Given the description of an element on the screen output the (x, y) to click on. 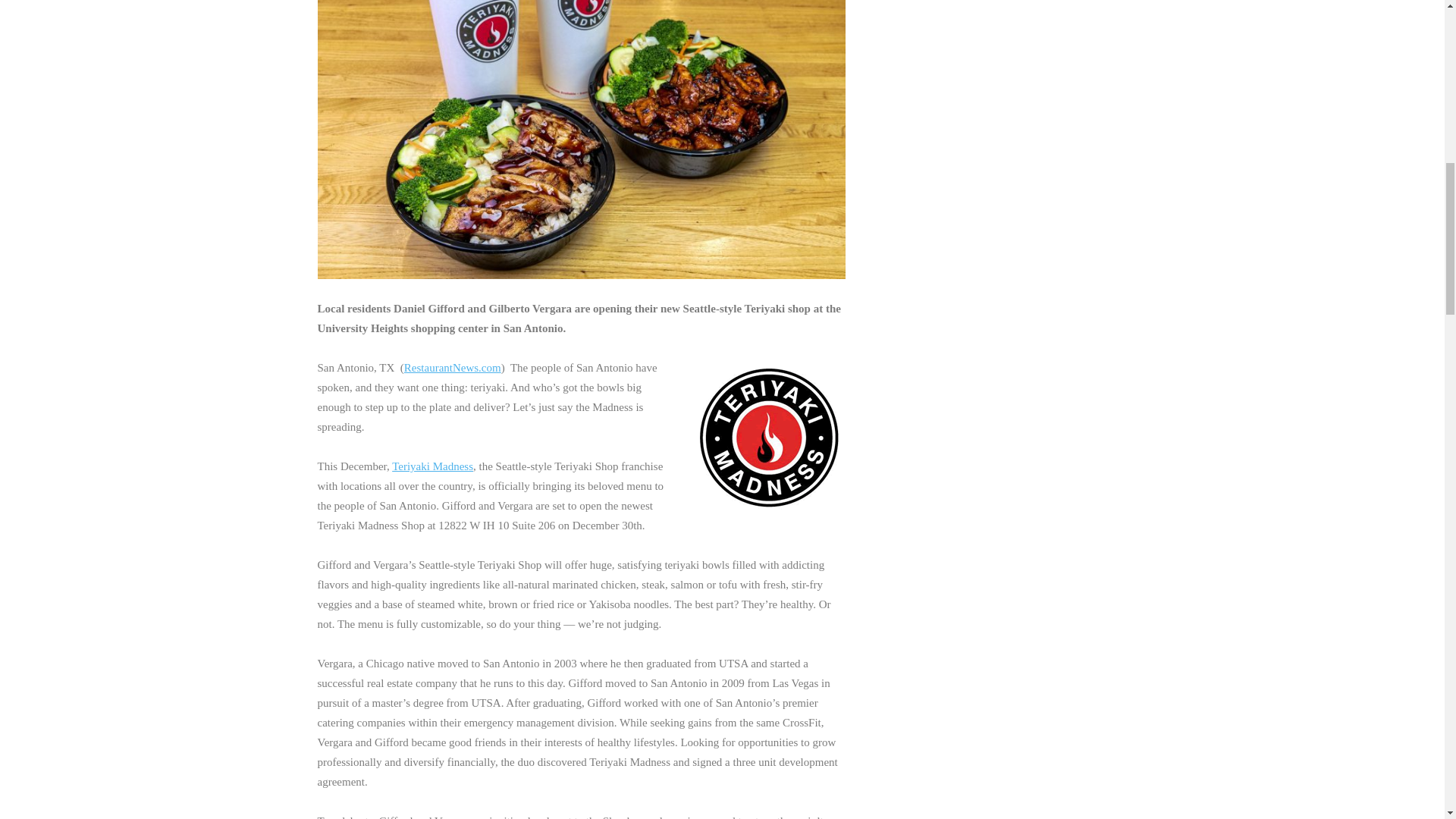
Teriyaki Madness (432, 466)
Teriyaki Madness (432, 466)
Teriyaki Madness (768, 438)
RestaurantNews.com (452, 367)
RestaurantNews.com (452, 367)
